Given the description of an element on the screen output the (x, y) to click on. 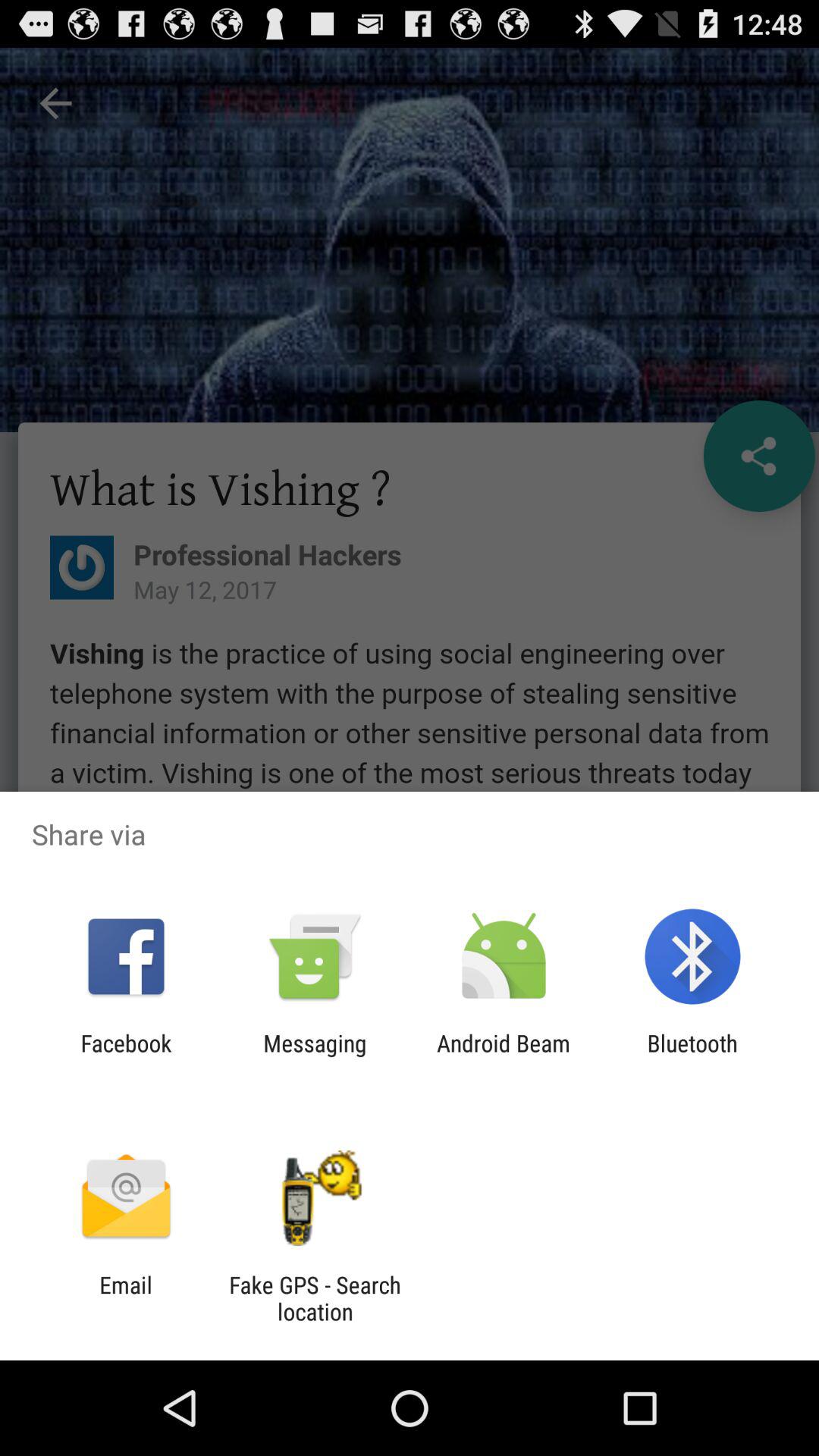
click app to the left of messaging item (125, 1056)
